Given the description of an element on the screen output the (x, y) to click on. 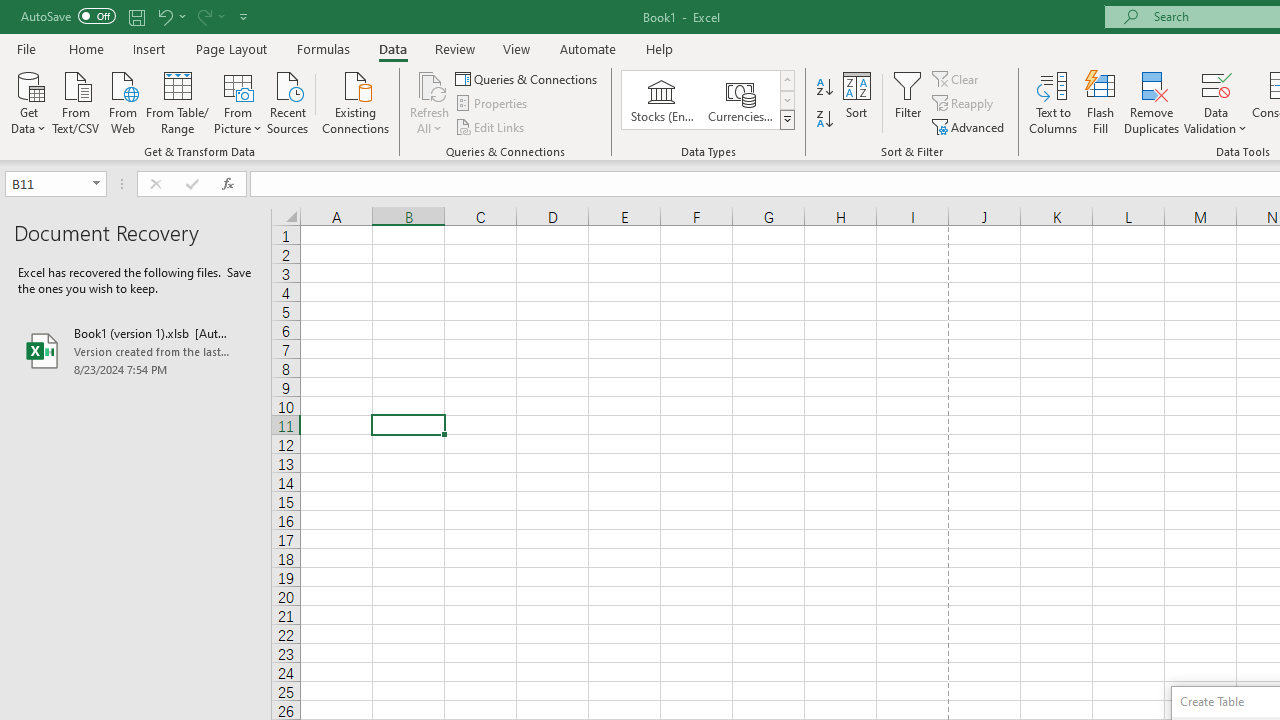
From Table/Range (177, 101)
Quick Access Toolbar (136, 16)
Open (96, 183)
Data Validation... (1215, 84)
Currencies (English) (740, 100)
Insert (149, 48)
View (517, 48)
Book1 (version 1).xlsb  [AutoRecovered] (136, 350)
AutomationID: ConvertToLinkedEntity (708, 99)
Data Types (786, 120)
Properties (492, 103)
Redo (209, 15)
Text to Columns... (1053, 102)
More Options (1215, 121)
